Given the description of an element on the screen output the (x, y) to click on. 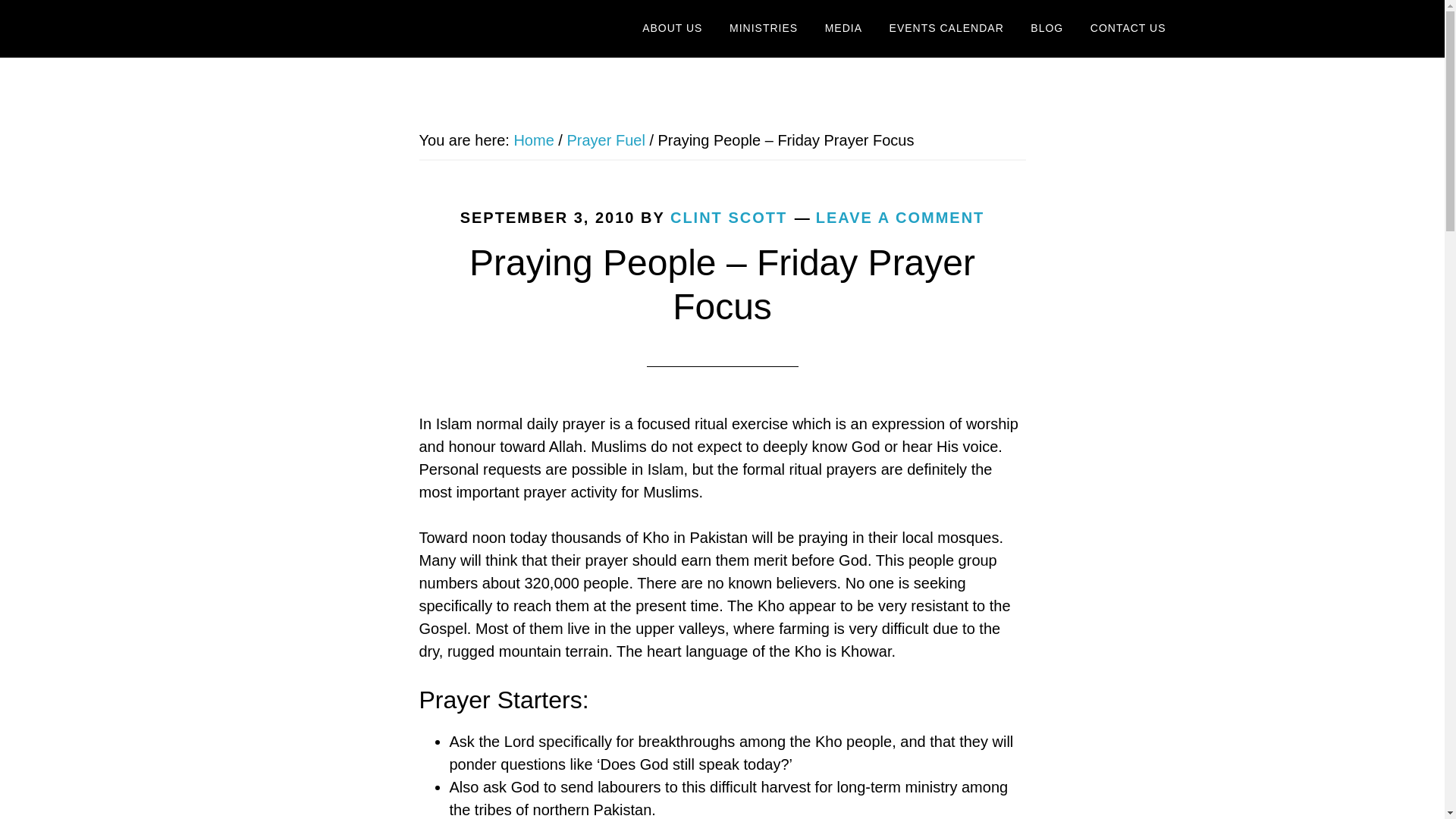
Prayer Fuel (605, 139)
ABOUT US (671, 28)
CLINT SCOTT (728, 217)
CONTACT US (1127, 28)
MINISTRIES (763, 28)
Home (533, 139)
MEDIA (843, 28)
WORLDWIDE MISSION FELLOWSHIP (403, 28)
EVENTS CALENDAR (945, 28)
